Given the description of an element on the screen output the (x, y) to click on. 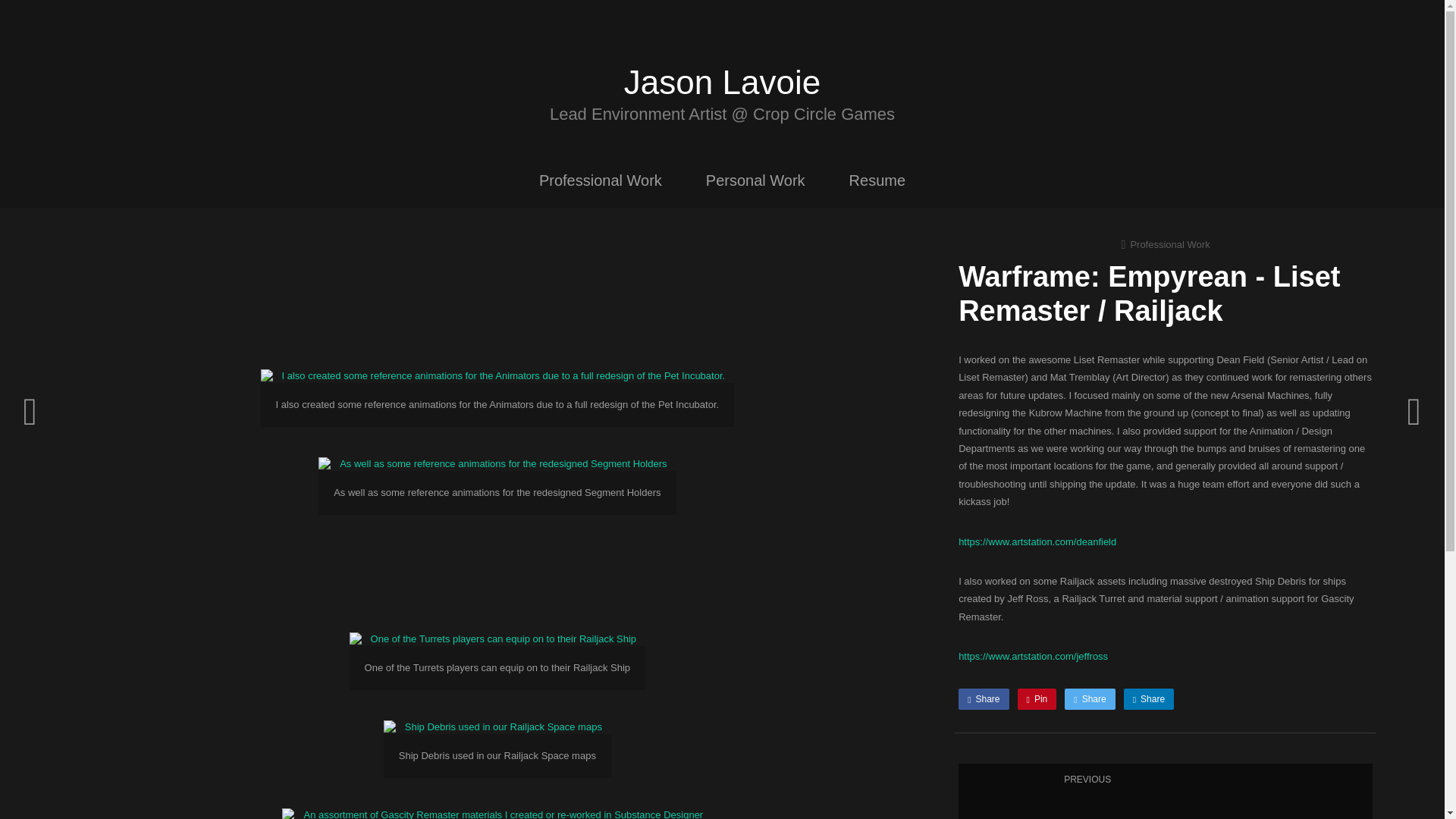
Share (1089, 699)
Jason Lavoie (1165, 791)
Professional Work (722, 81)
Pin (600, 179)
Personal Work (1037, 699)
Professional Work (755, 179)
Share (1165, 243)
Share (983, 699)
Resume (1148, 699)
